Given the description of an element on the screen output the (x, y) to click on. 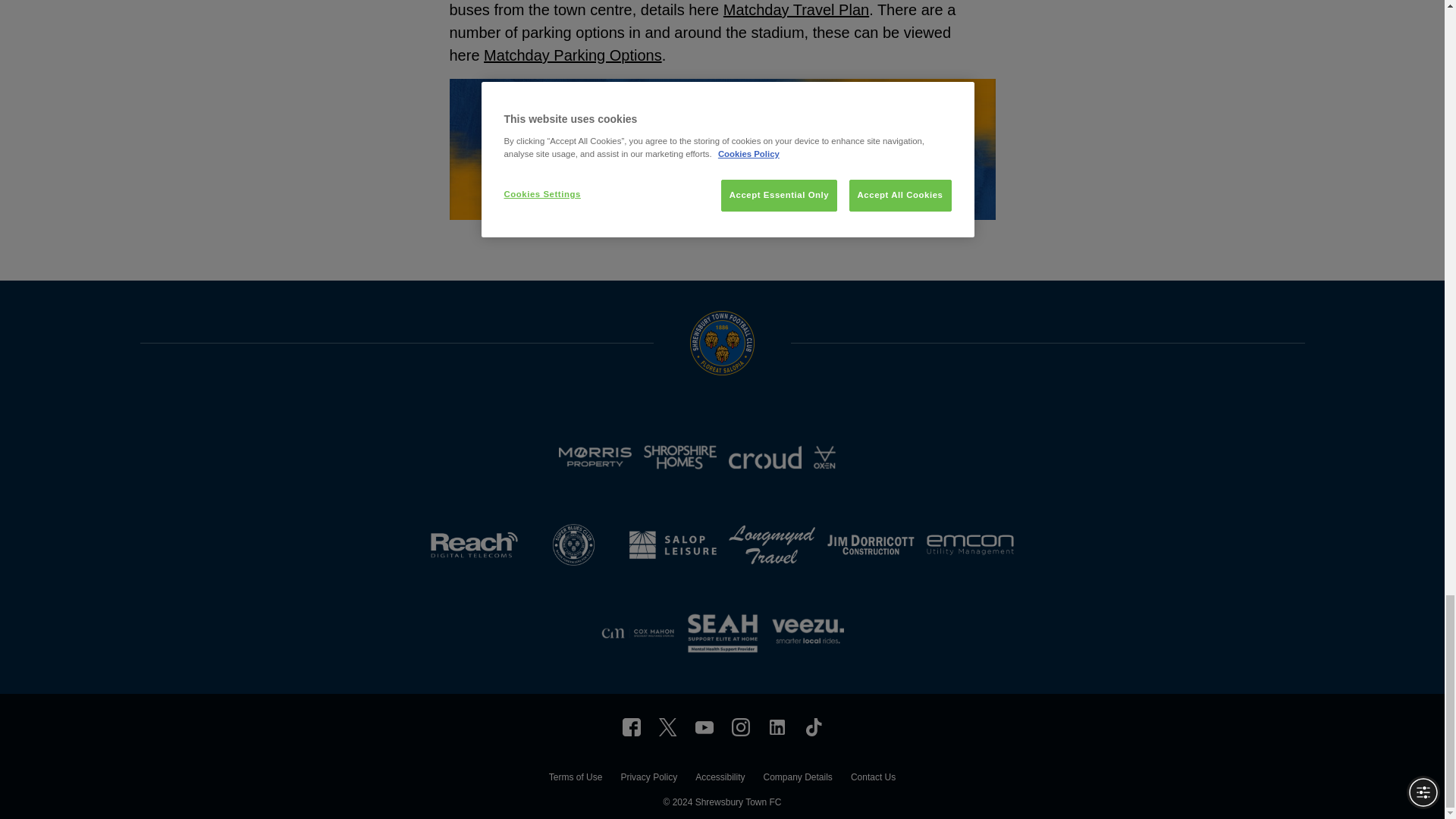
Contact Us (872, 779)
Matchday Travel Plan (796, 9)
Accessibility (719, 779)
Privacy Policy (648, 779)
Shrewsbury Town (703, 727)
Company Details (796, 779)
Matchday Parking Options (572, 54)
Shrewsbury Town (630, 727)
Terms of Use (575, 779)
Privacy Policy (648, 779)
Official Shrewsbury Town TikTok (812, 727)
Terms of Use (575, 779)
Accessibility (719, 779)
Shrewsbury Town (776, 727)
